Given the description of an element on the screen output the (x, y) to click on. 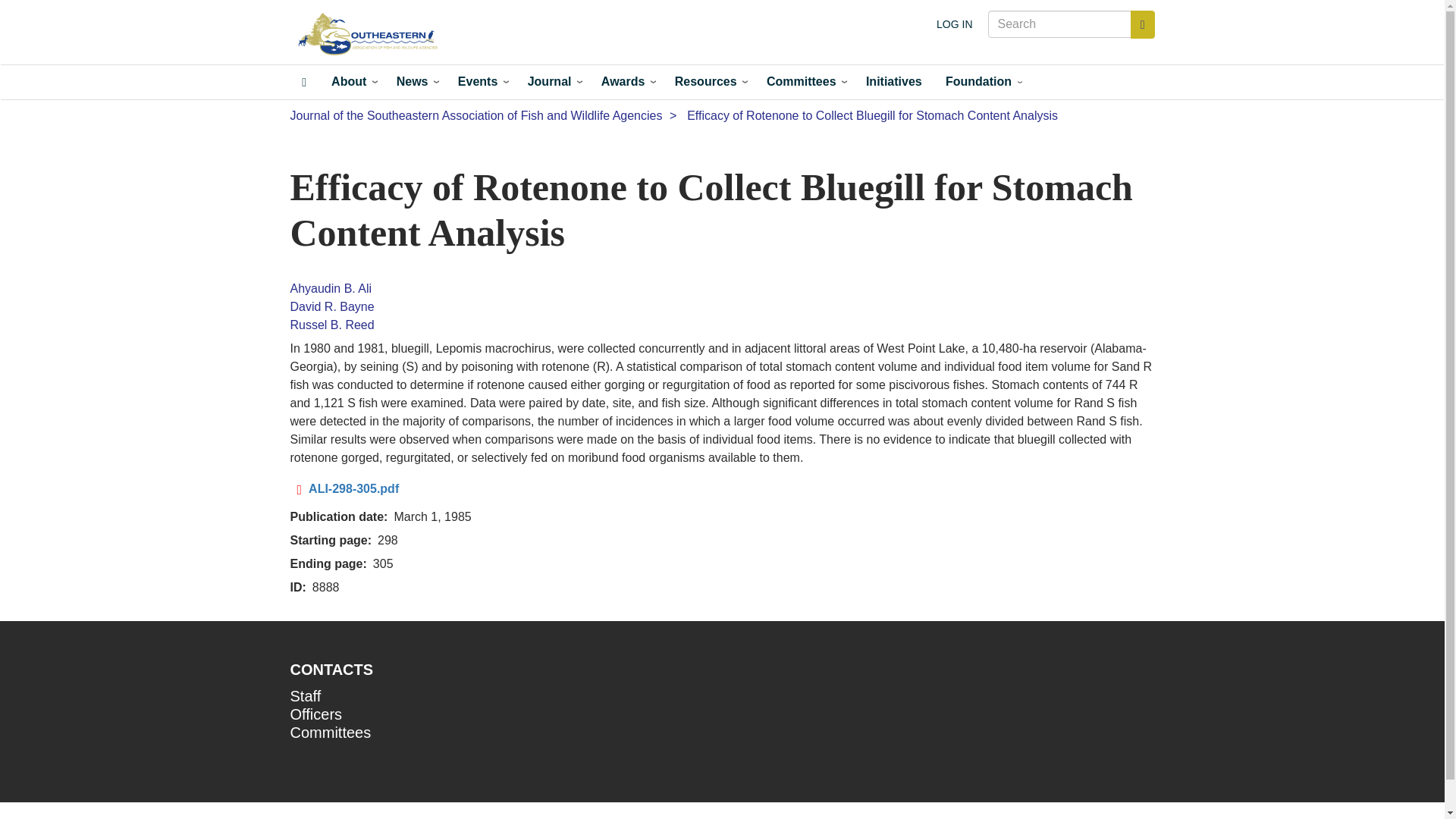
About (351, 81)
LOG IN (954, 23)
Events (480, 81)
Home (370, 34)
News (414, 81)
